Given the description of an element on the screen output the (x, y) to click on. 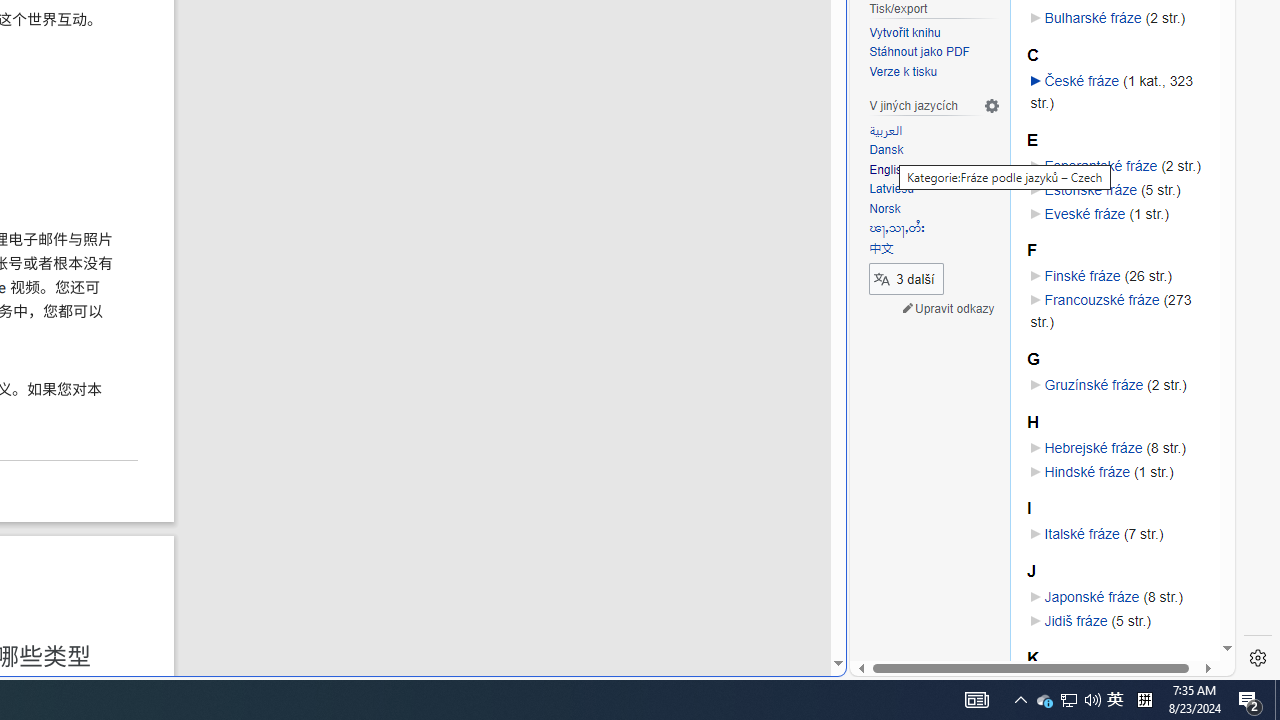
MSN (687, 223)
Upravit odkazy (948, 308)
